Given the description of an element on the screen output the (x, y) to click on. 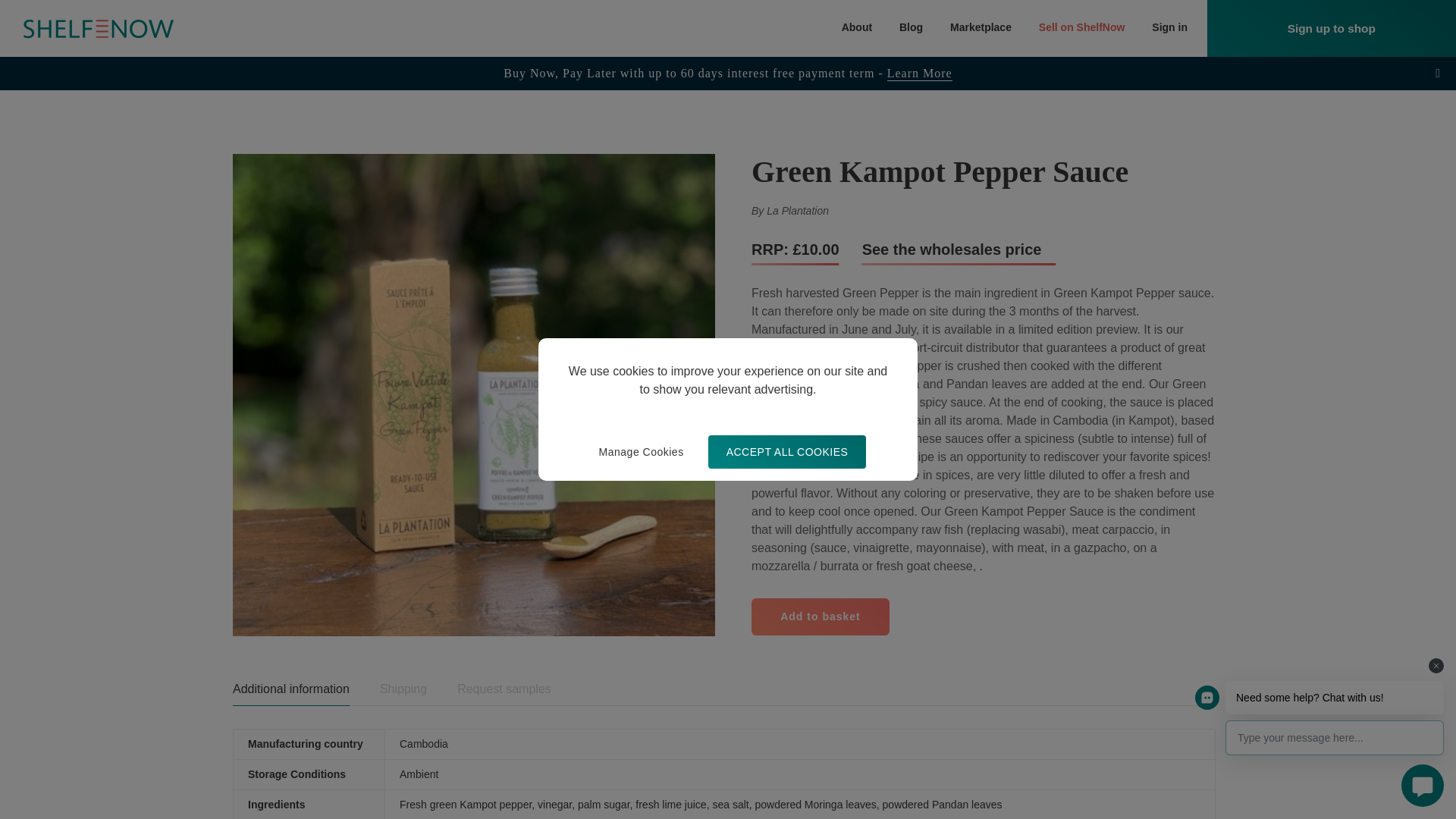
Sign in (1169, 28)
Additional information (290, 689)
By La Plantation (789, 211)
Marketplace (980, 28)
About (856, 28)
Logo (98, 28)
Sell on ShelfNow (1082, 28)
Blog (911, 28)
Learn More (919, 72)
